Given the description of an element on the screen output the (x, y) to click on. 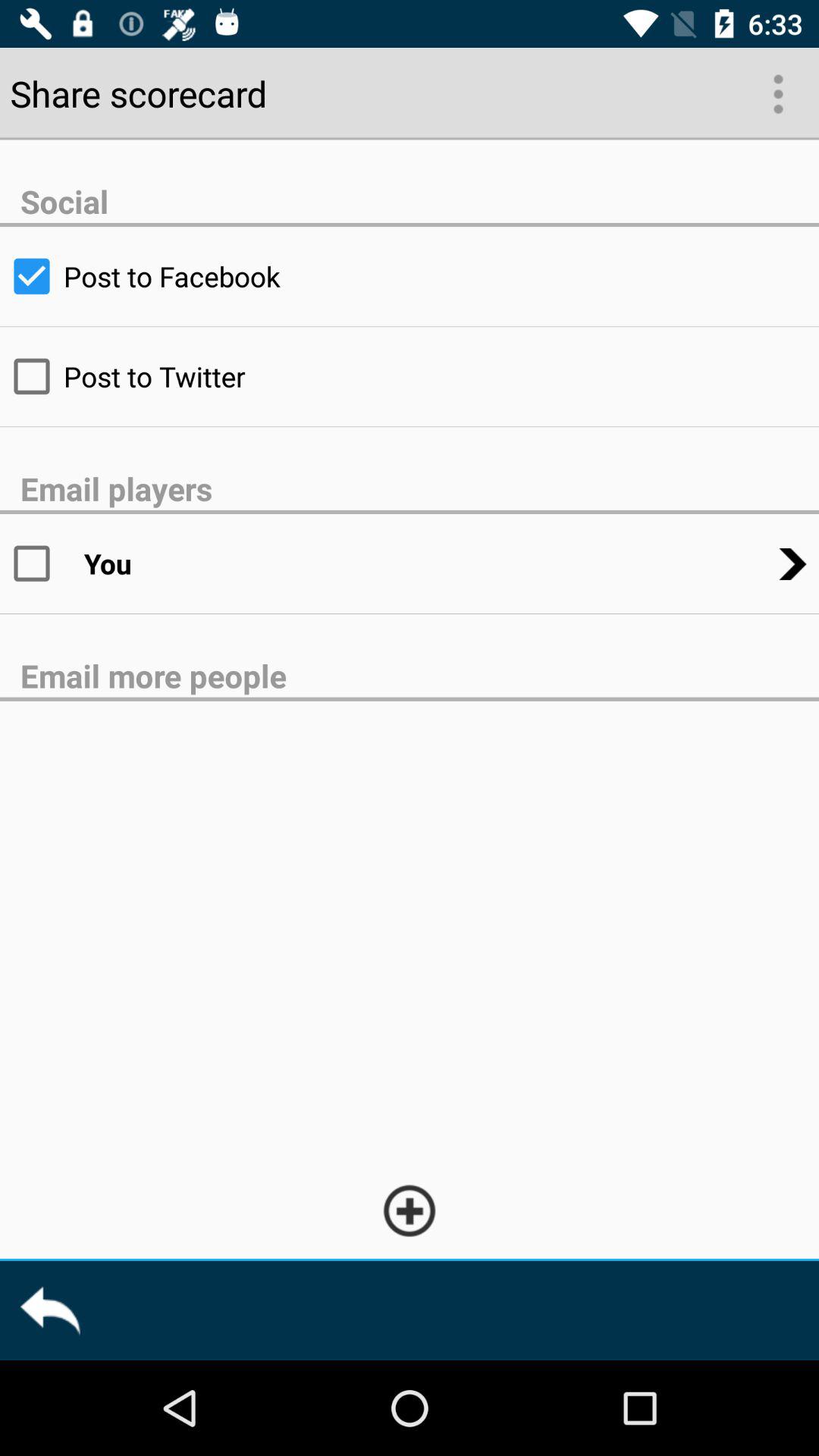
open item to the right of share scorecard item (776, 92)
